Given the description of an element on the screen output the (x, y) to click on. 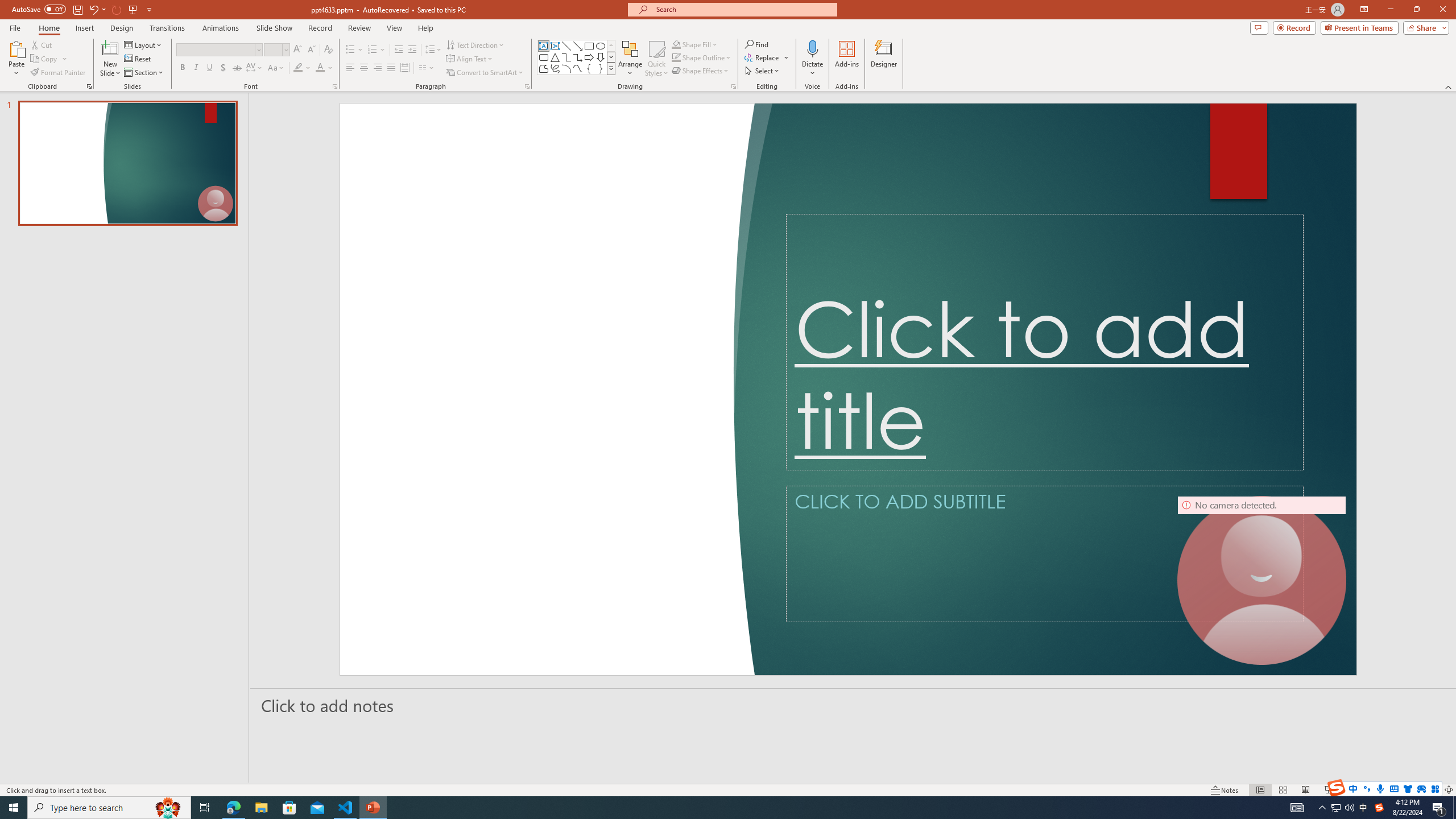
Shape Effects (700, 69)
